Given the description of an element on the screen output the (x, y) to click on. 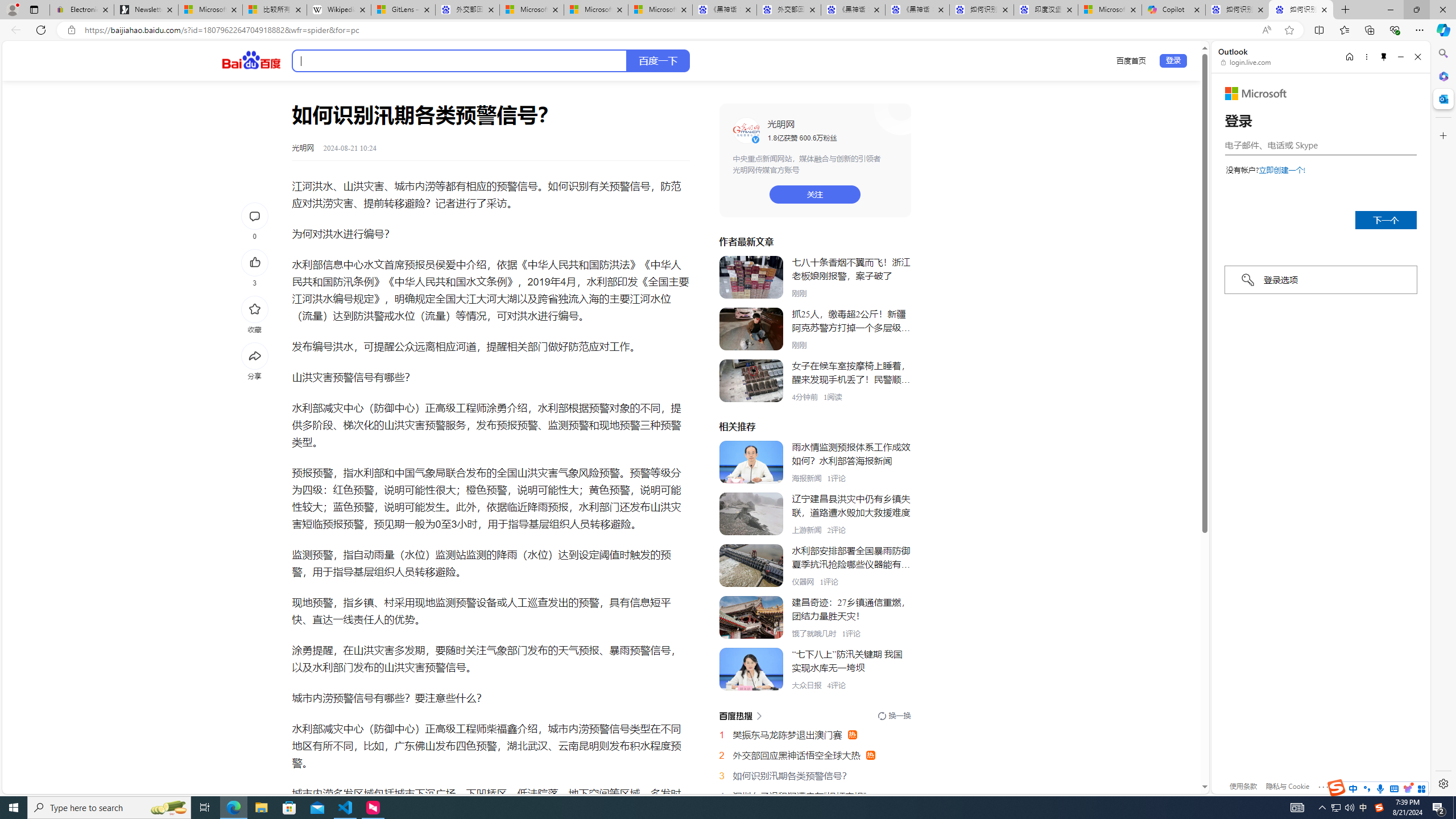
Class: XDq7y (751, 668)
